Given the description of an element on the screen output the (x, y) to click on. 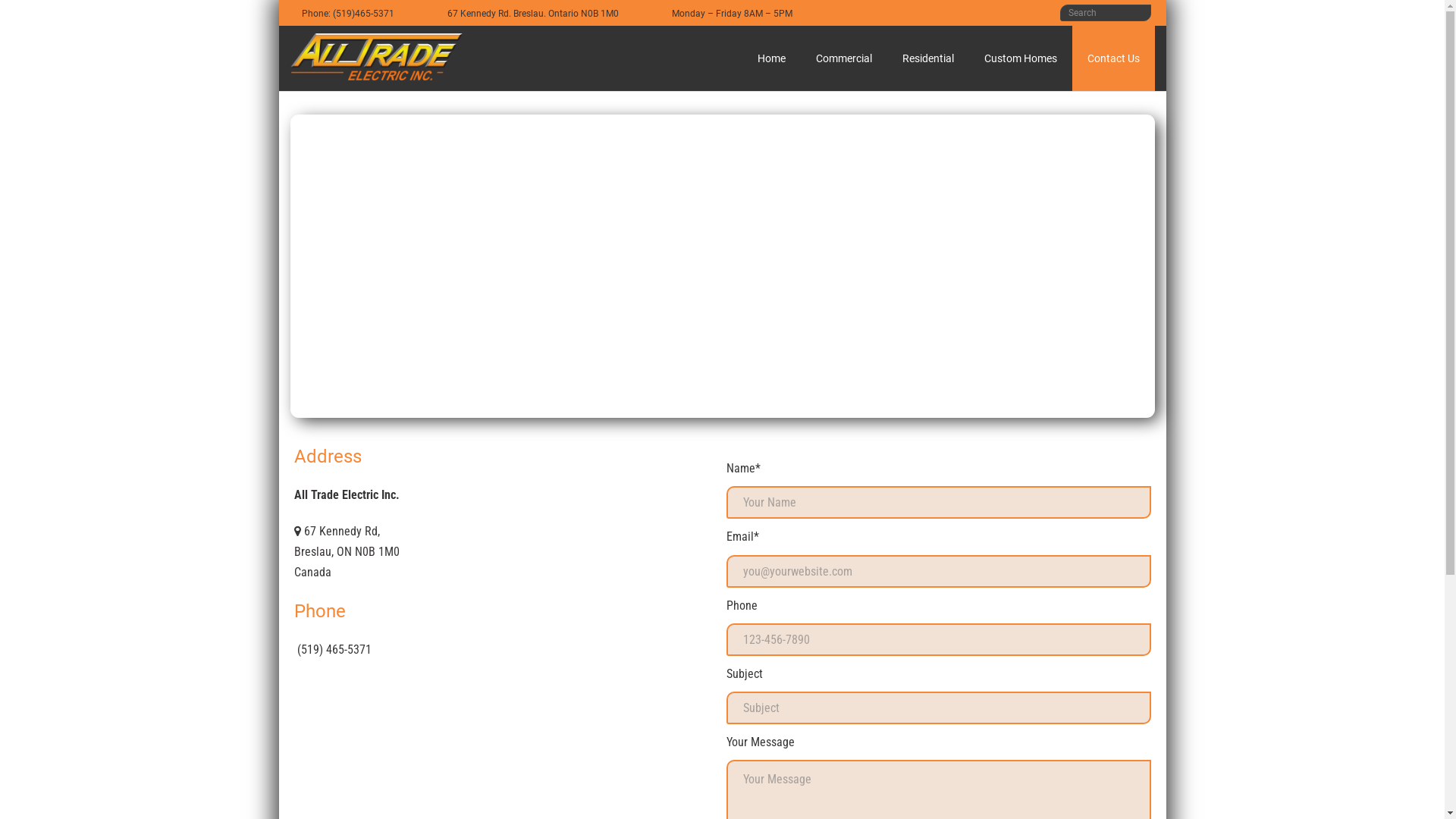
Contact Us Element type: text (1113, 58)
Residential Element type: text (928, 58)
Home Element type: text (770, 58)
Commercial Element type: text (843, 58)
67 Kennedy Rd. Breslau. Ontario N0B 1M0 Element type: text (532, 12)
Phone: (519)465-5371 Element type: text (346, 12)
Search Element type: text (25, 13)
Custom Homes Element type: text (1020, 58)
